Given the description of an element on the screen output the (x, y) to click on. 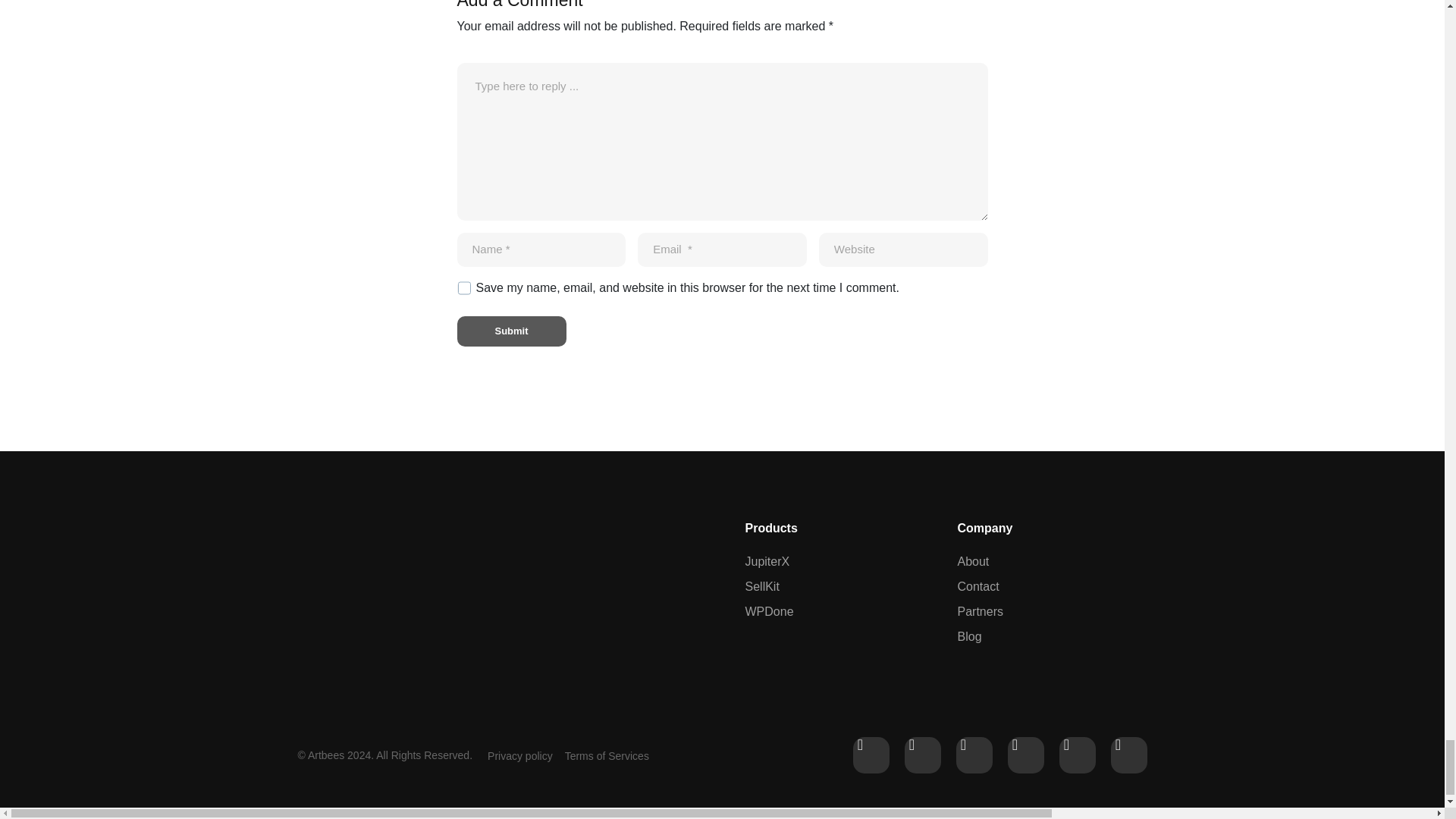
Privacy policy (520, 756)
WPDone (835, 611)
Partners (979, 611)
Contact (979, 587)
Blog (979, 637)
yes (462, 287)
About (979, 561)
Terms of Services (606, 756)
Submit (511, 331)
JupiterX (835, 561)
SellKit (835, 587)
